Given the description of an element on the screen output the (x, y) to click on. 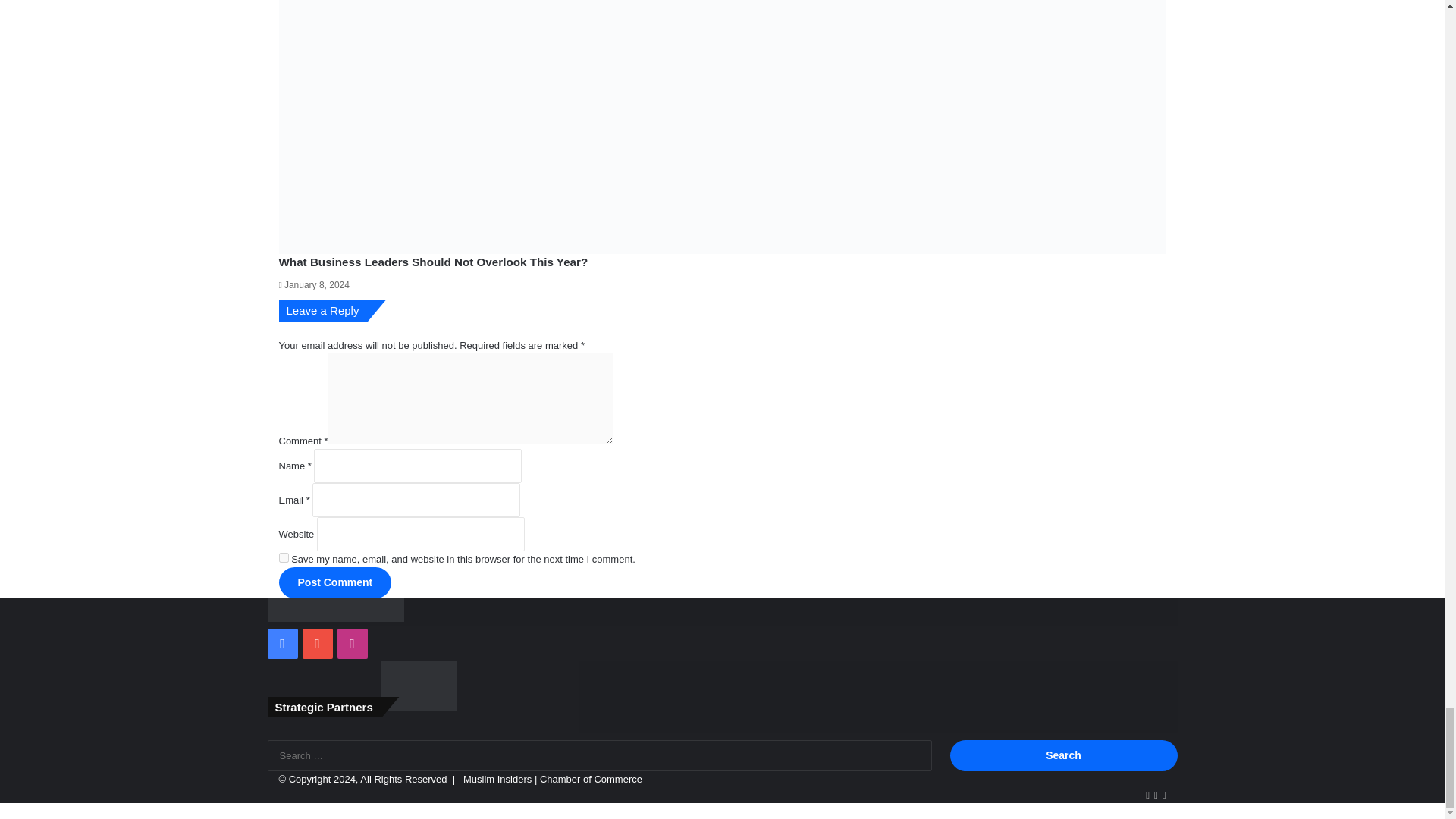
Search (1062, 755)
Post Comment (335, 582)
yes (283, 557)
Search (1062, 755)
